Given the description of an element on the screen output the (x, y) to click on. 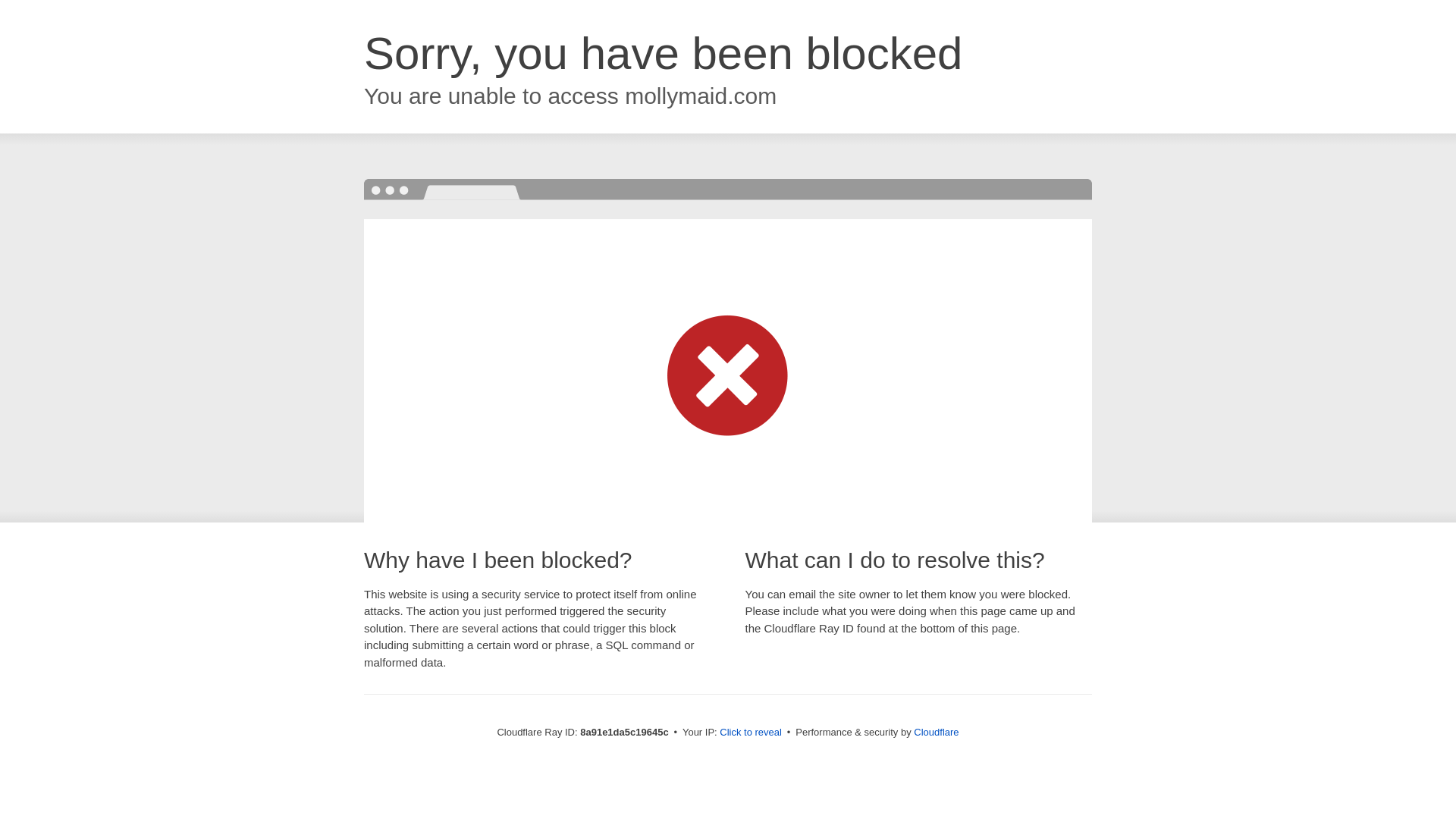
Cloudflare (936, 731)
Click to reveal (750, 732)
